Given the description of an element on the screen output the (x, y) to click on. 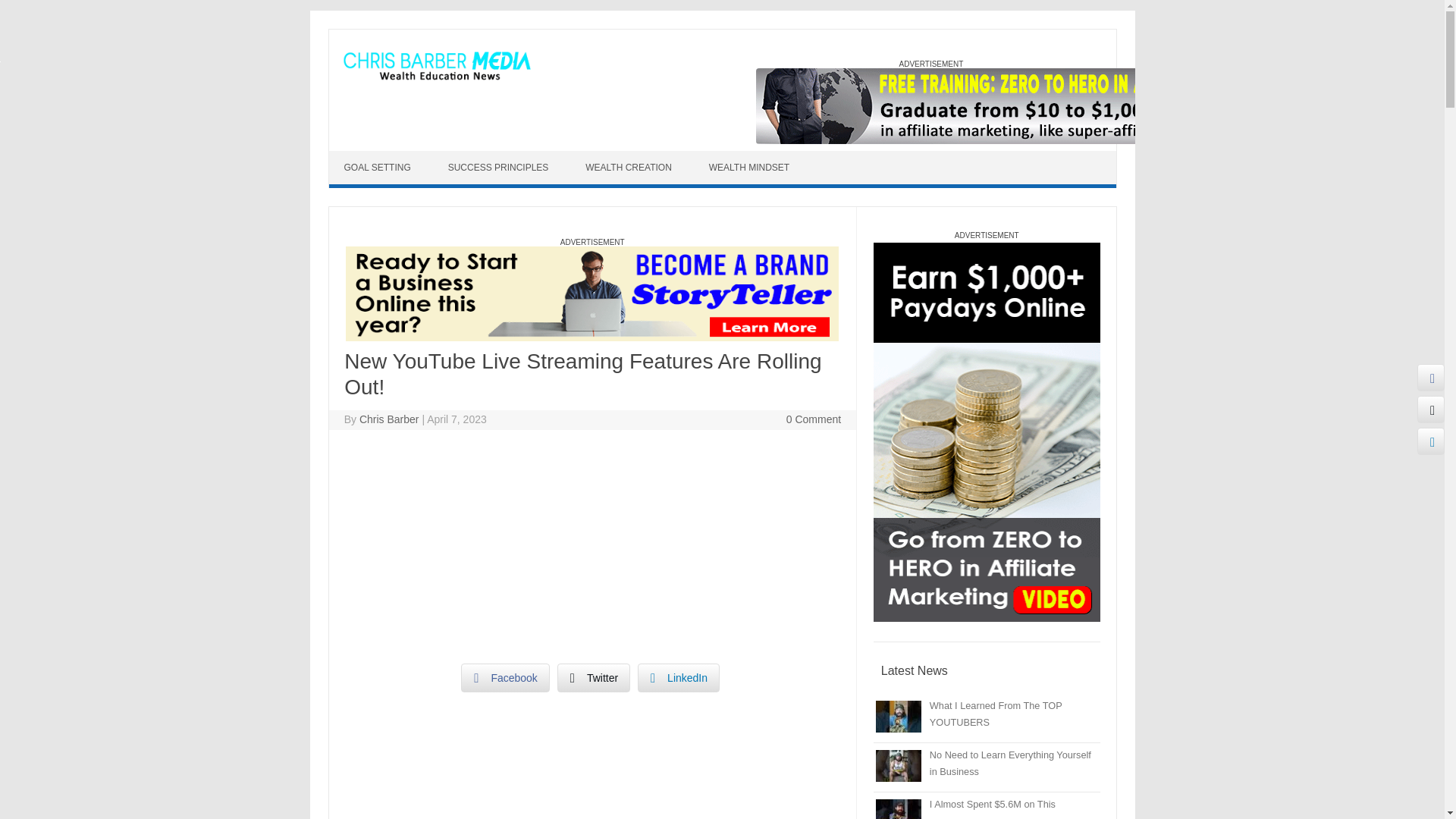
Facebook (504, 677)
Skip to content (363, 155)
LinkedIn (678, 677)
Twitter (593, 677)
Advertisement (591, 551)
WEALTH CREATION (630, 167)
Advertisement (591, 788)
WEALTH MINDSET (751, 167)
Posts by Chris Barber (389, 419)
0 Comment (813, 419)
